Given the description of an element on the screen output the (x, y) to click on. 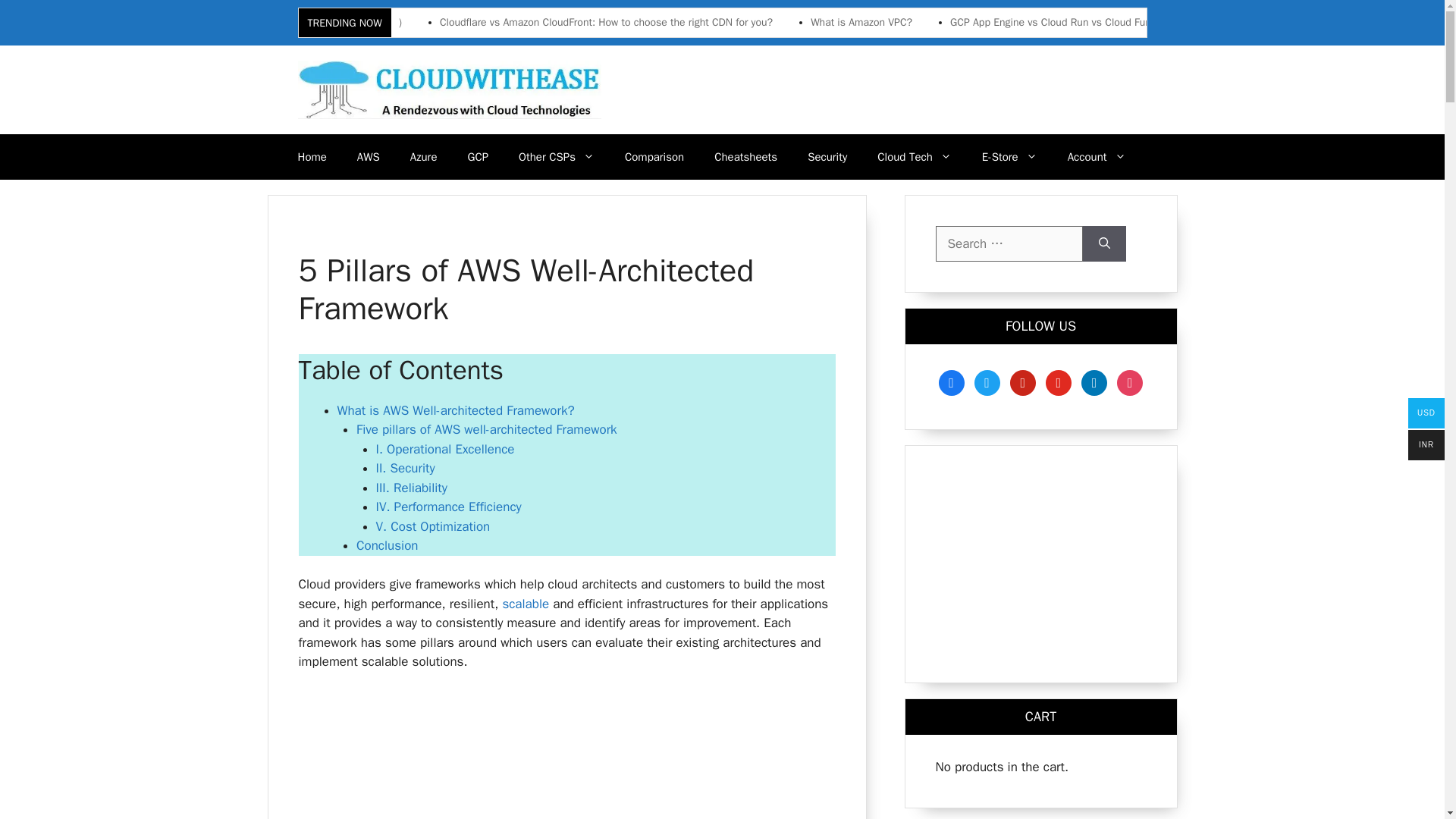
GCP App Engine vs Cloud Run vs Cloud Function (1061, 22)
What is Amazon VPC? (861, 22)
GCP App Engine vs Cloud Run vs Cloud Function (1061, 22)
What is Amazon VPC? (861, 22)
